Given the description of an element on the screen output the (x, y) to click on. 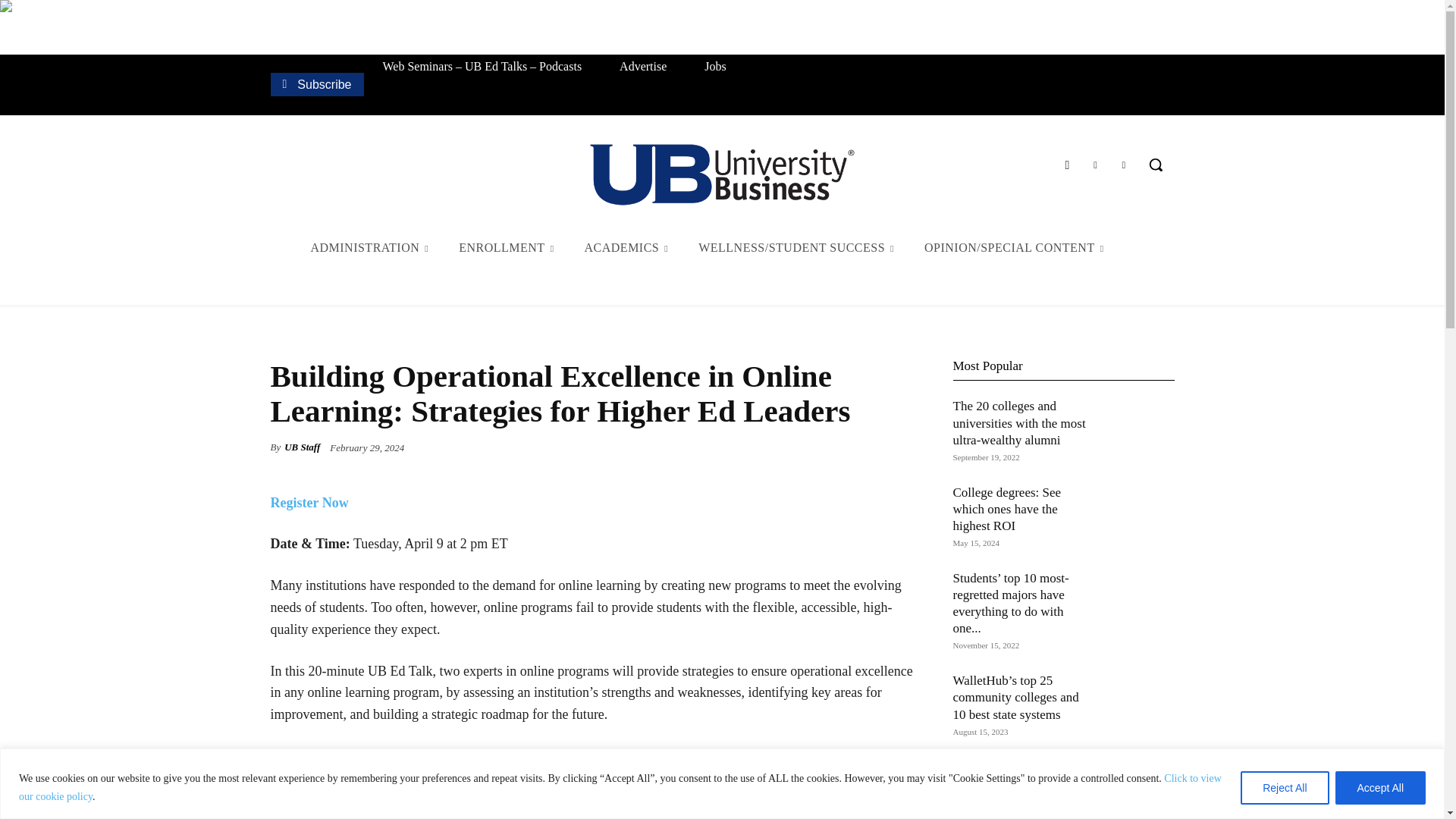
Twitter (1094, 164)
Reject All (1283, 786)
Linkedin (1123, 164)
College degrees: See which ones have the highest ROI (1006, 509)
Accept All (1380, 786)
Click to view our cookie policy (619, 786)
Facebook (1067, 164)
